Given the description of an element on the screen output the (x, y) to click on. 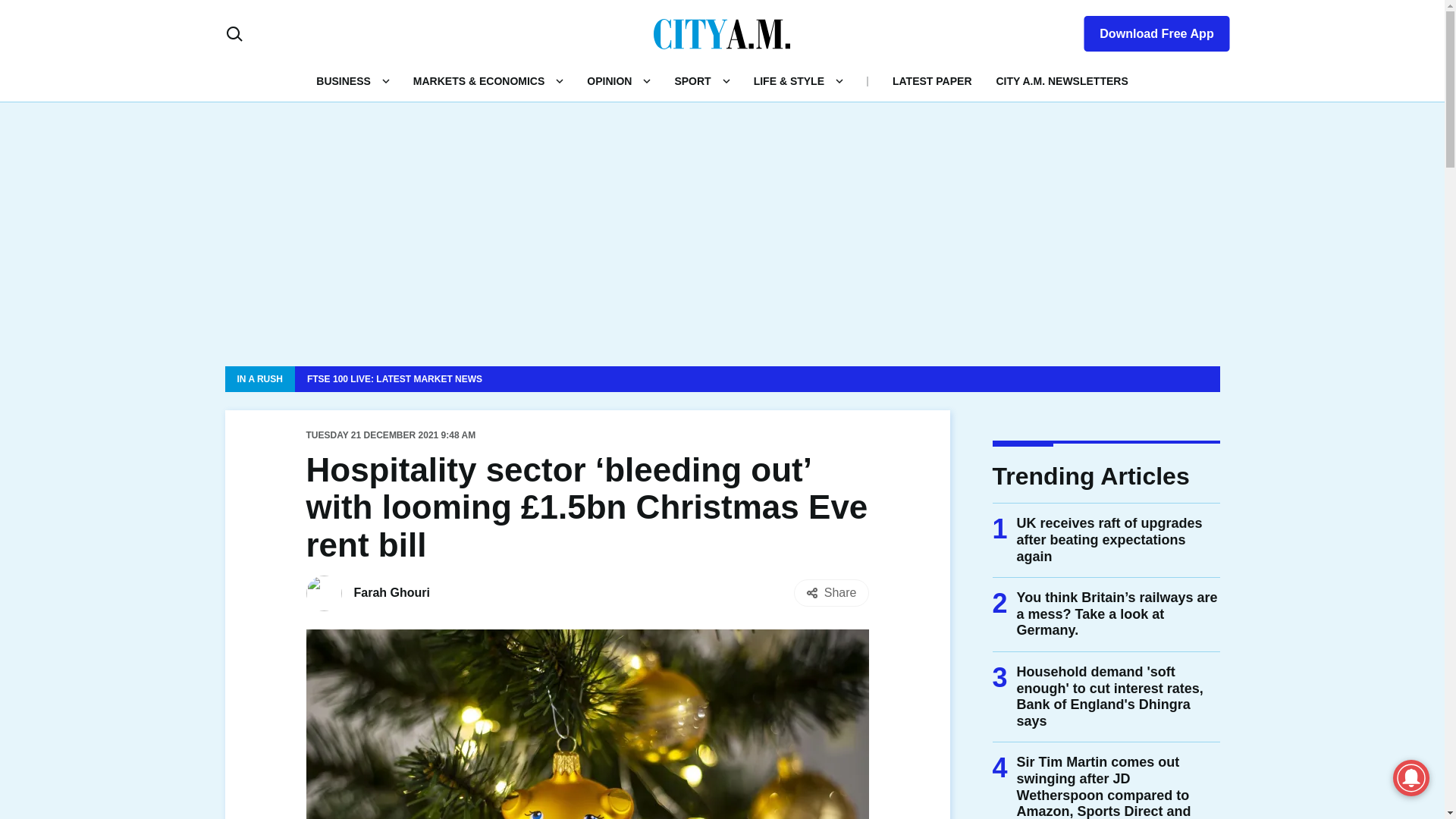
Download Free App (1146, 30)
BUSINESS (343, 80)
CityAM (721, 33)
